Given the description of an element on the screen output the (x, y) to click on. 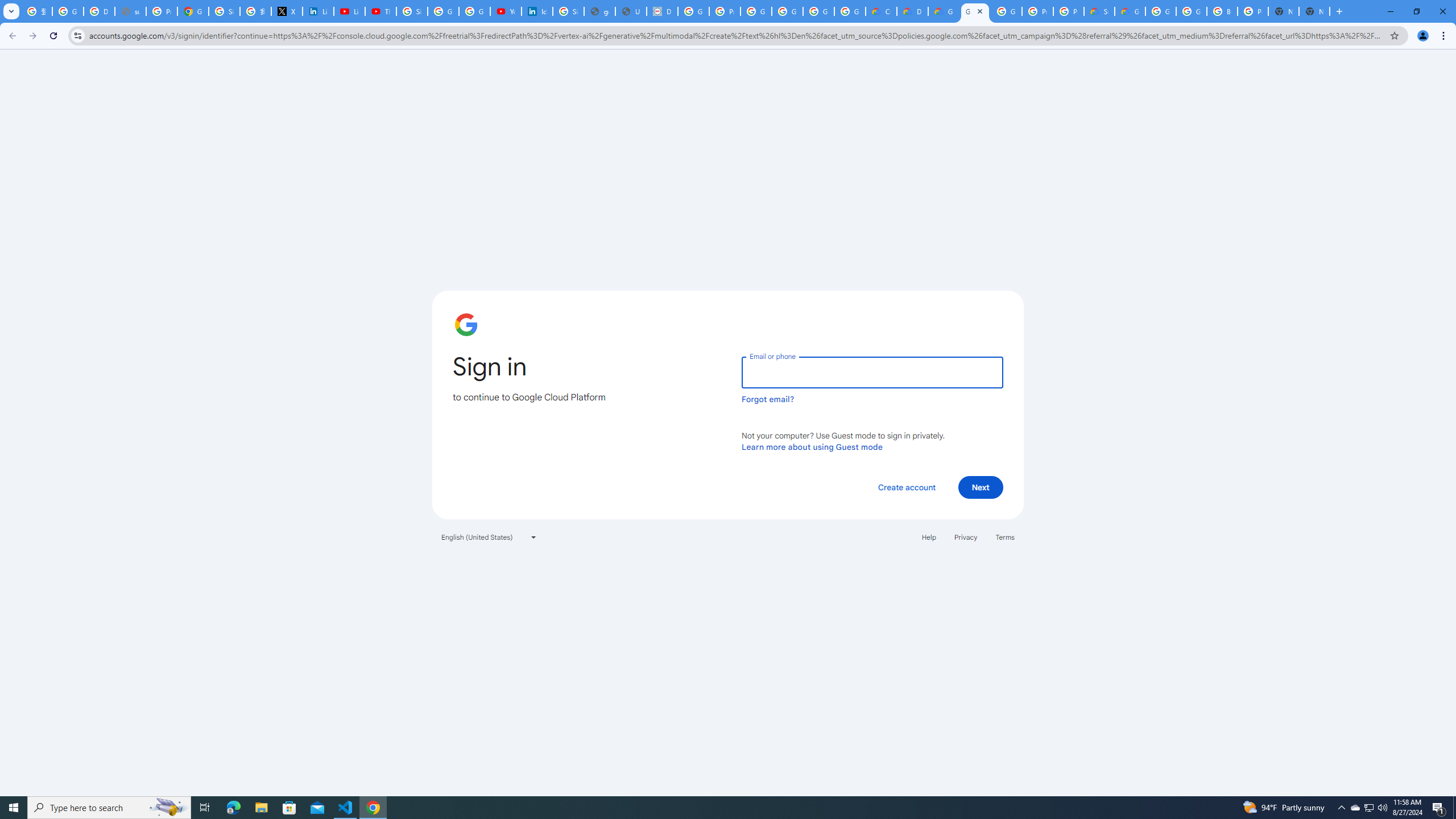
google_privacy_policy_en.pdf (599, 11)
Customer Care | Google Cloud (881, 11)
Next (980, 486)
Google Cloud Platform (1190, 11)
X (286, 11)
Privacy Help Center - Policies Help (161, 11)
Create account (905, 486)
Google Cloud Platform (974, 11)
